Given the description of an element on the screen output the (x, y) to click on. 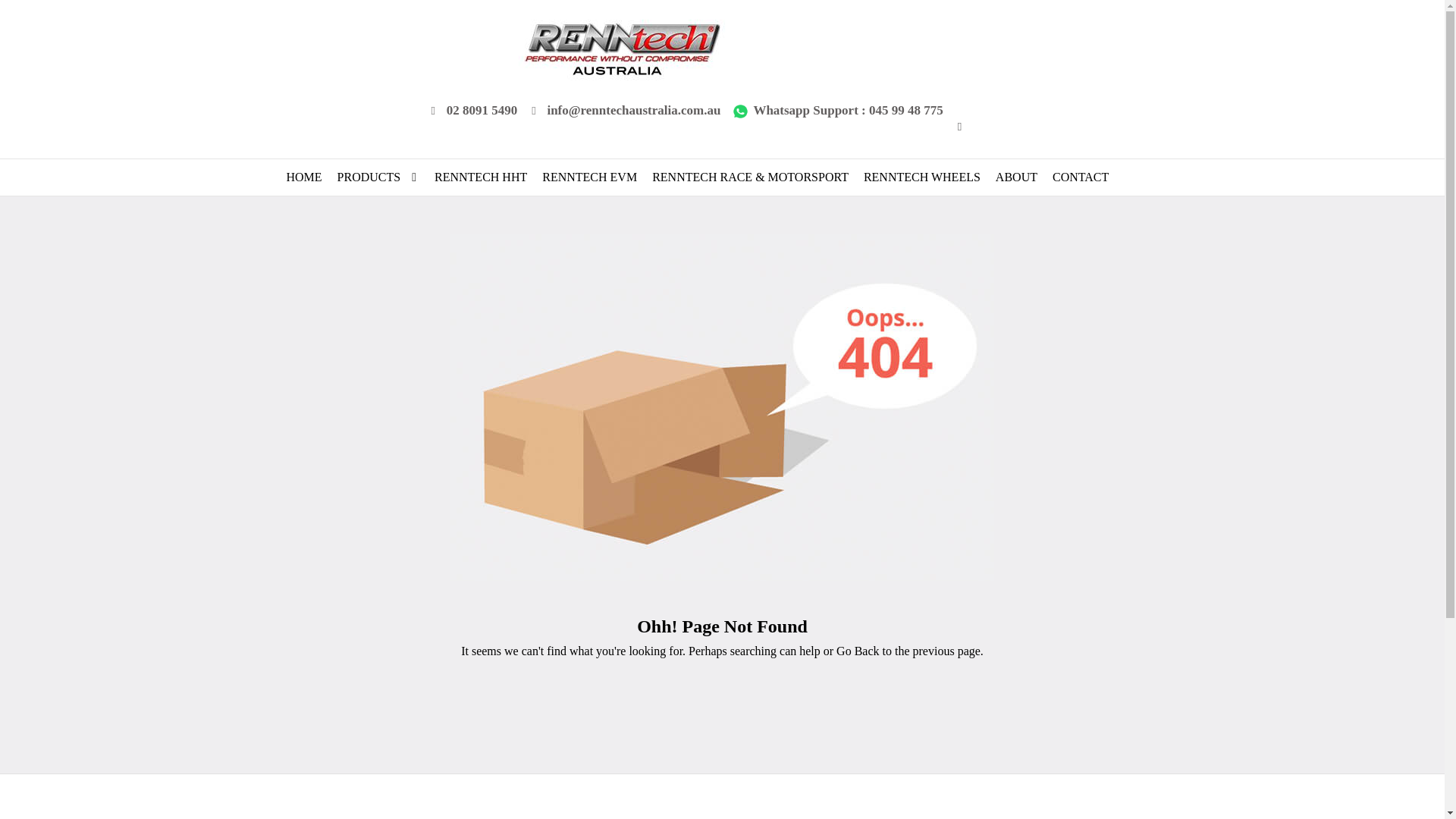
HOME (303, 177)
RENNTECH EVM (589, 177)
CONTACT (1080, 177)
PRODUCTS (369, 177)
Whatsapp Support : 045 99 48 775 (837, 110)
RENNTECH WHEELS (921, 177)
 02 8091 5490 (472, 110)
RENNTECH HHT (480, 177)
ABOUT (1015, 177)
facebook (962, 125)
Go Back (857, 650)
